Given the description of an element on the screen output the (x, y) to click on. 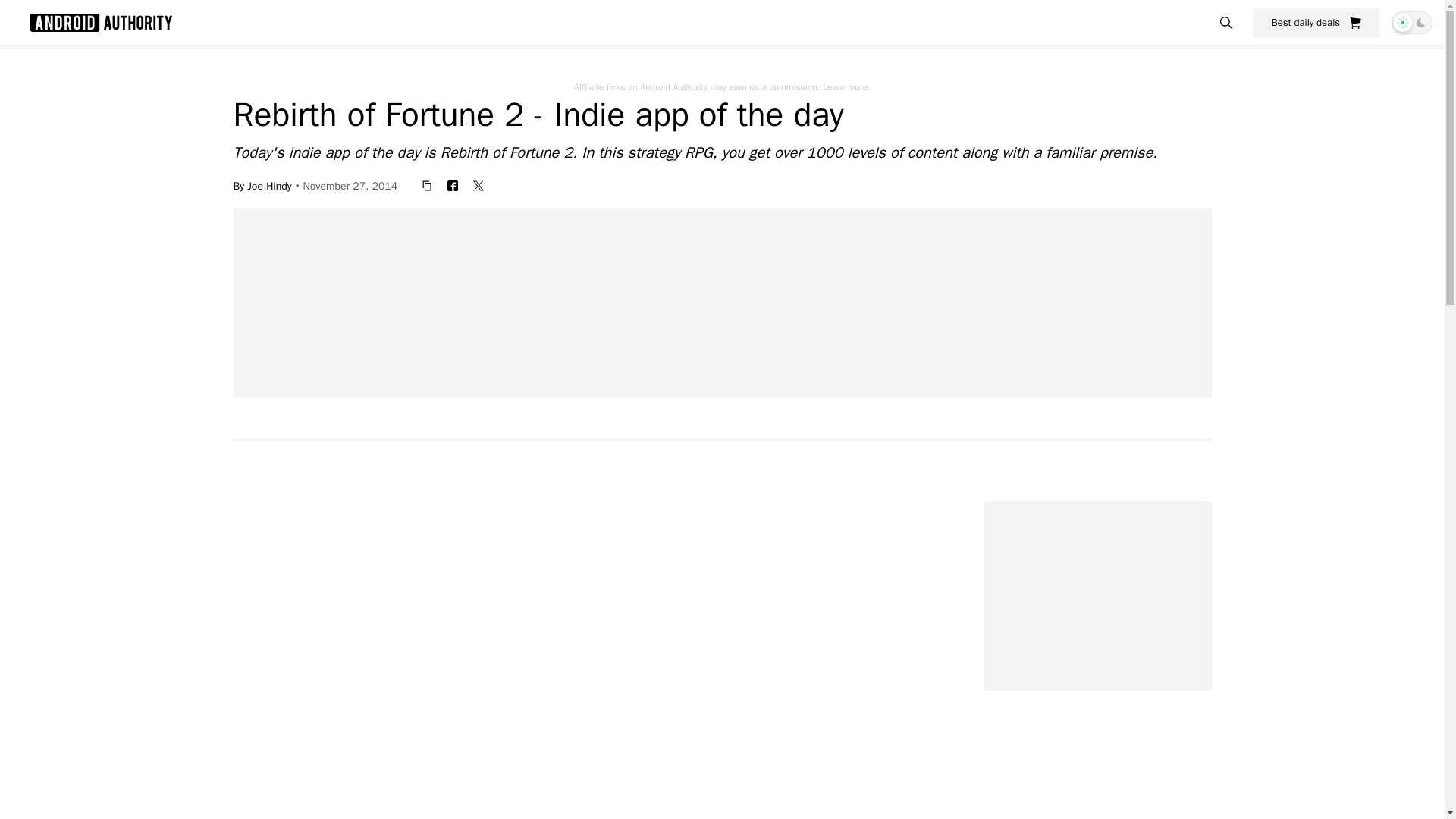
facebook (452, 185)
Best daily deals (1315, 22)
Learn more. (846, 86)
Joe Hindy (269, 185)
twitter (478, 185)
